Given the description of an element on the screen output the (x, y) to click on. 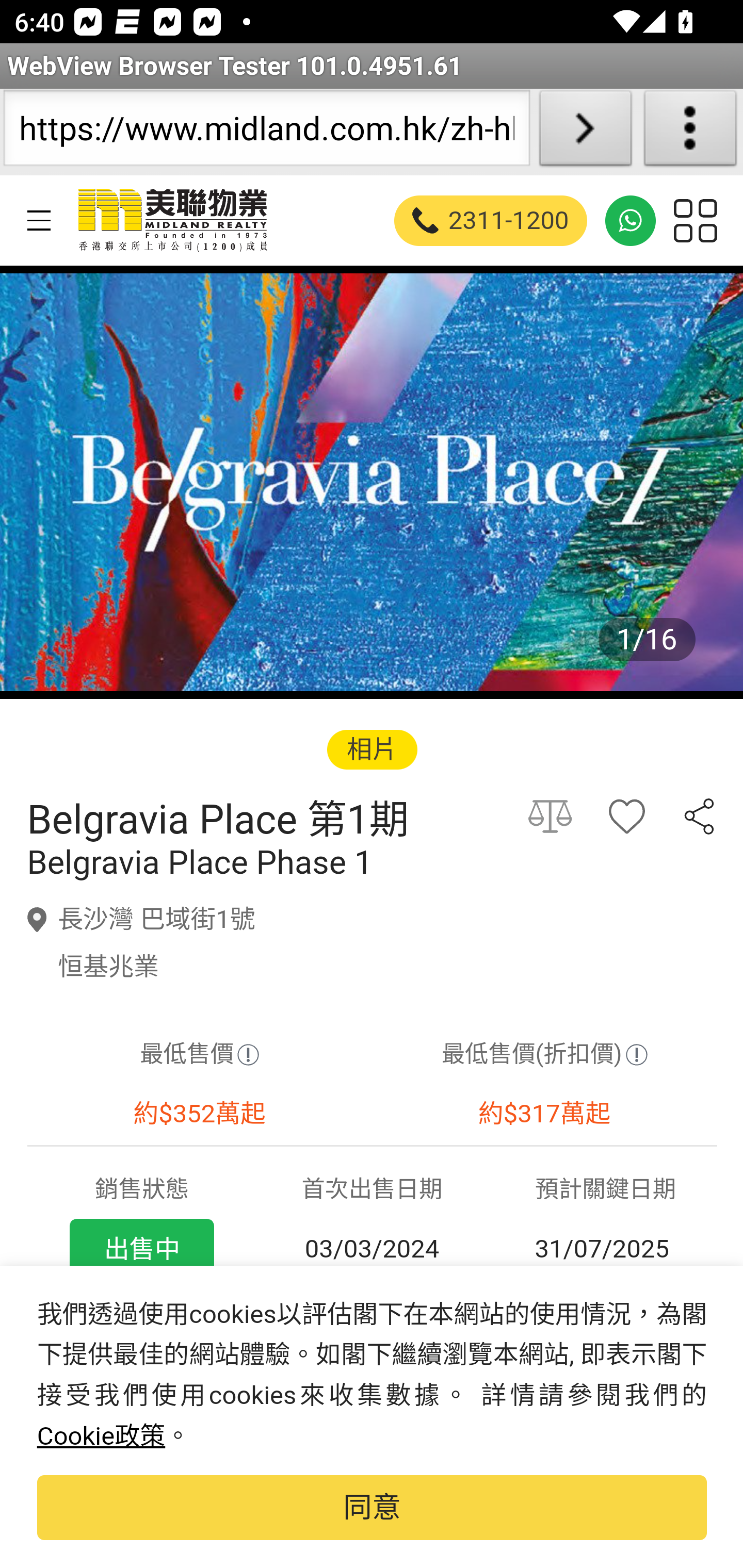
Load URL (585, 132)
About WebView (690, 132)
美聯物業 - 香港地產代理 (171, 220)
2311-1200 (490, 219)
WhatsApp: 2311-1200 (630, 219)
相片 (372, 749)
長沙灣 巴域街1號 (156, 918)
最低售價 (199, 1054)
最低售價(折扣價) (543, 1054)
出售中 (141, 1249)
Cookie政策 (101, 1435)
同意 (372, 1508)
